Given the description of an element on the screen output the (x, y) to click on. 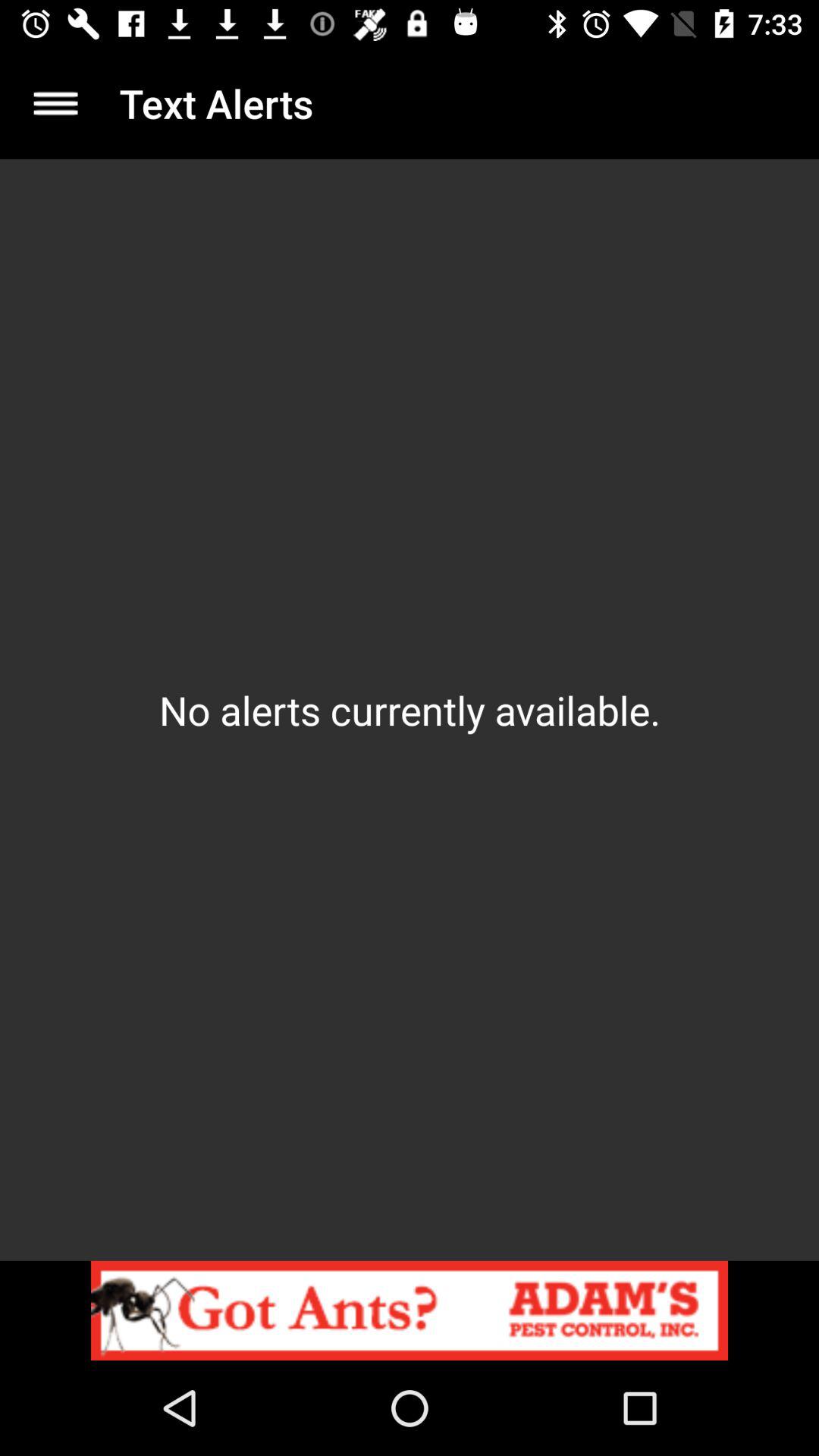
tap icon next to the text alerts icon (55, 103)
